Given the description of an element on the screen output the (x, y) to click on. 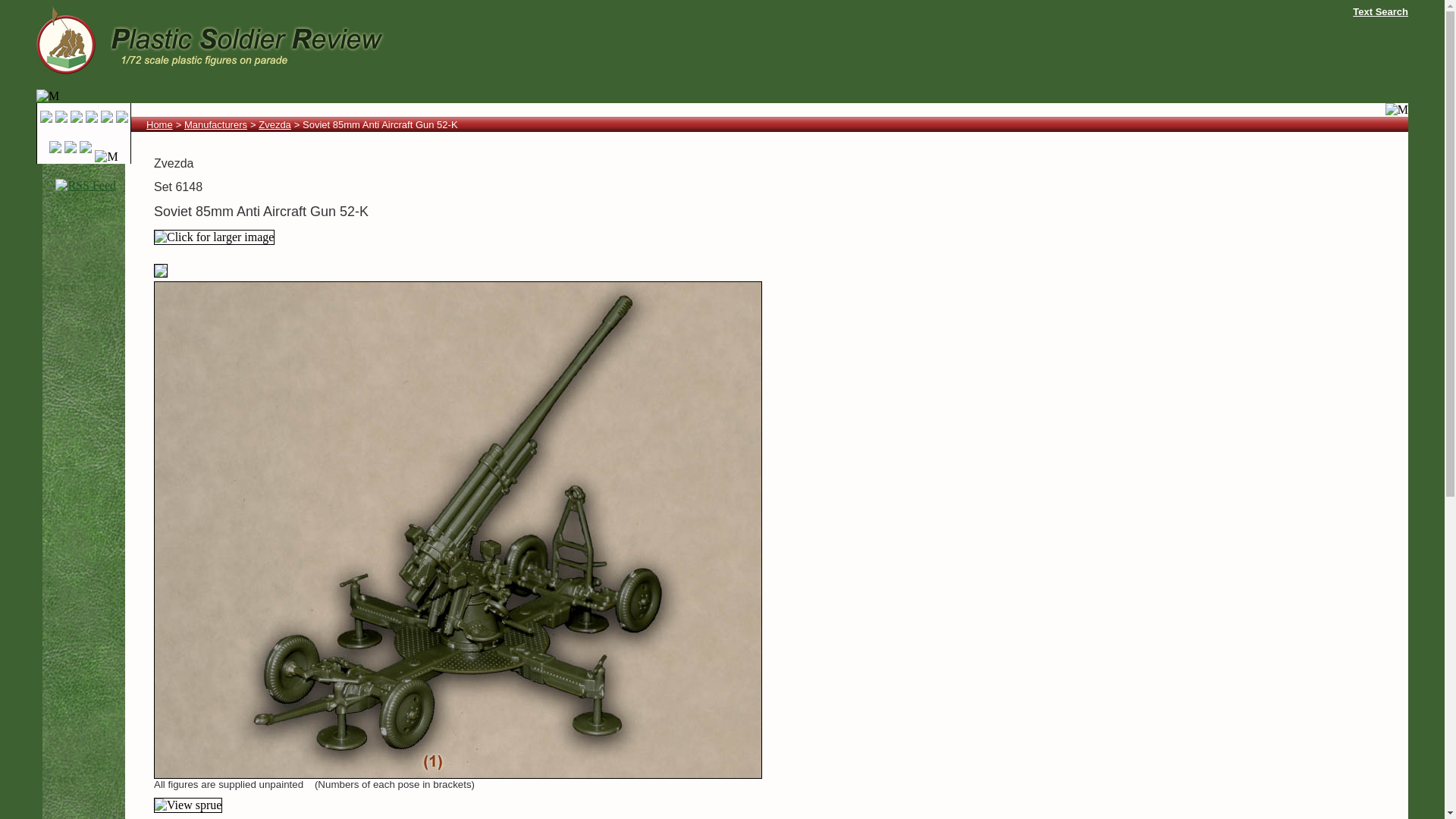
Manufacturers (215, 124)
View sprue (188, 805)
Home (160, 124)
RSS Feed (85, 185)
Zvezda (275, 124)
Text Search (1379, 11)
